Given the description of an element on the screen output the (x, y) to click on. 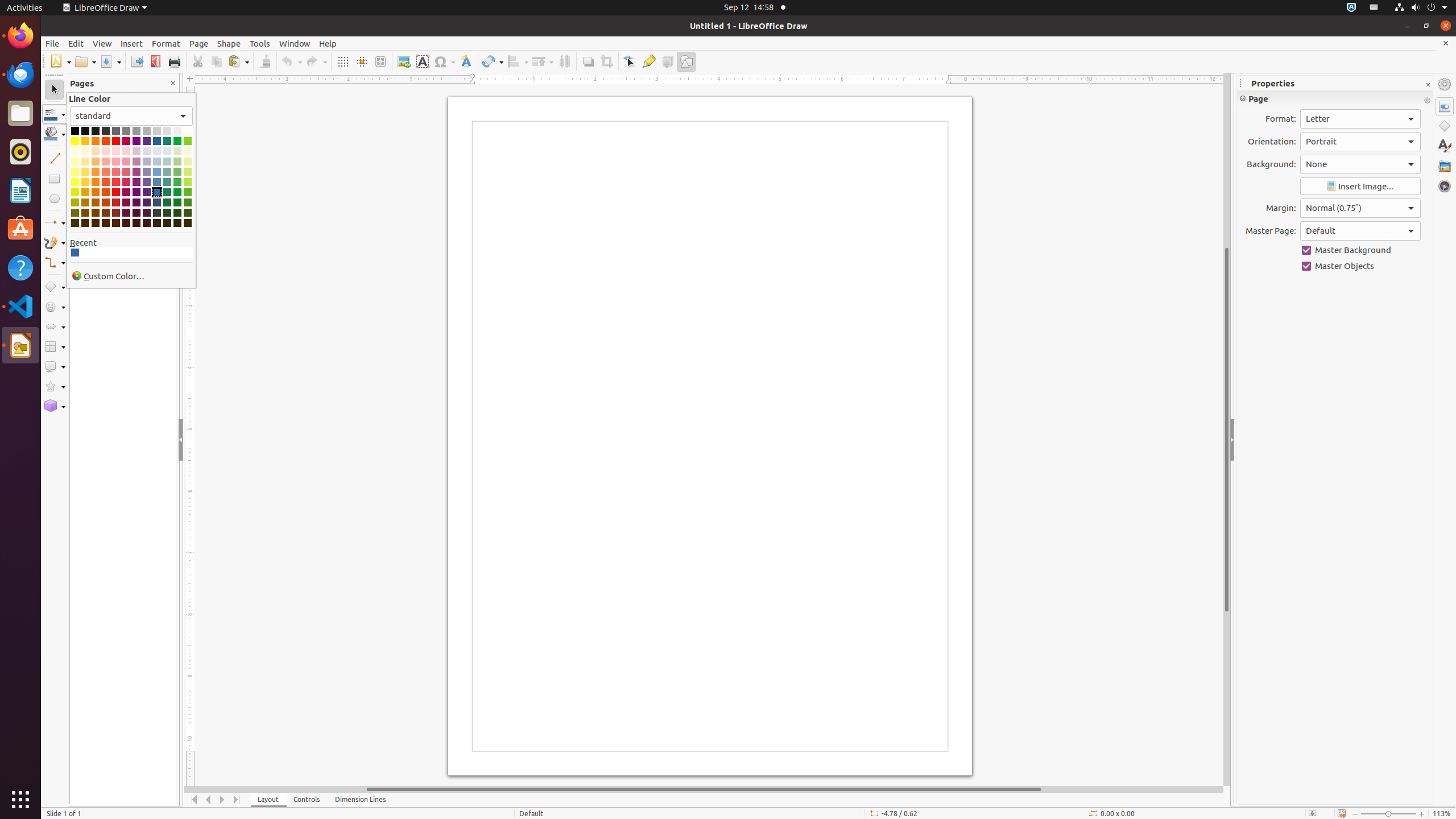
Light Gold 2 Element type: list-item (85, 171)
Shadow Element type: toggle-button (587, 61)
Light Lime 3 Element type: list-item (187, 161)
LibreOffice Draw Element type: menu (103, 7)
Light Teal 1 Element type: list-item (167, 181)
